Given the description of an element on the screen output the (x, y) to click on. 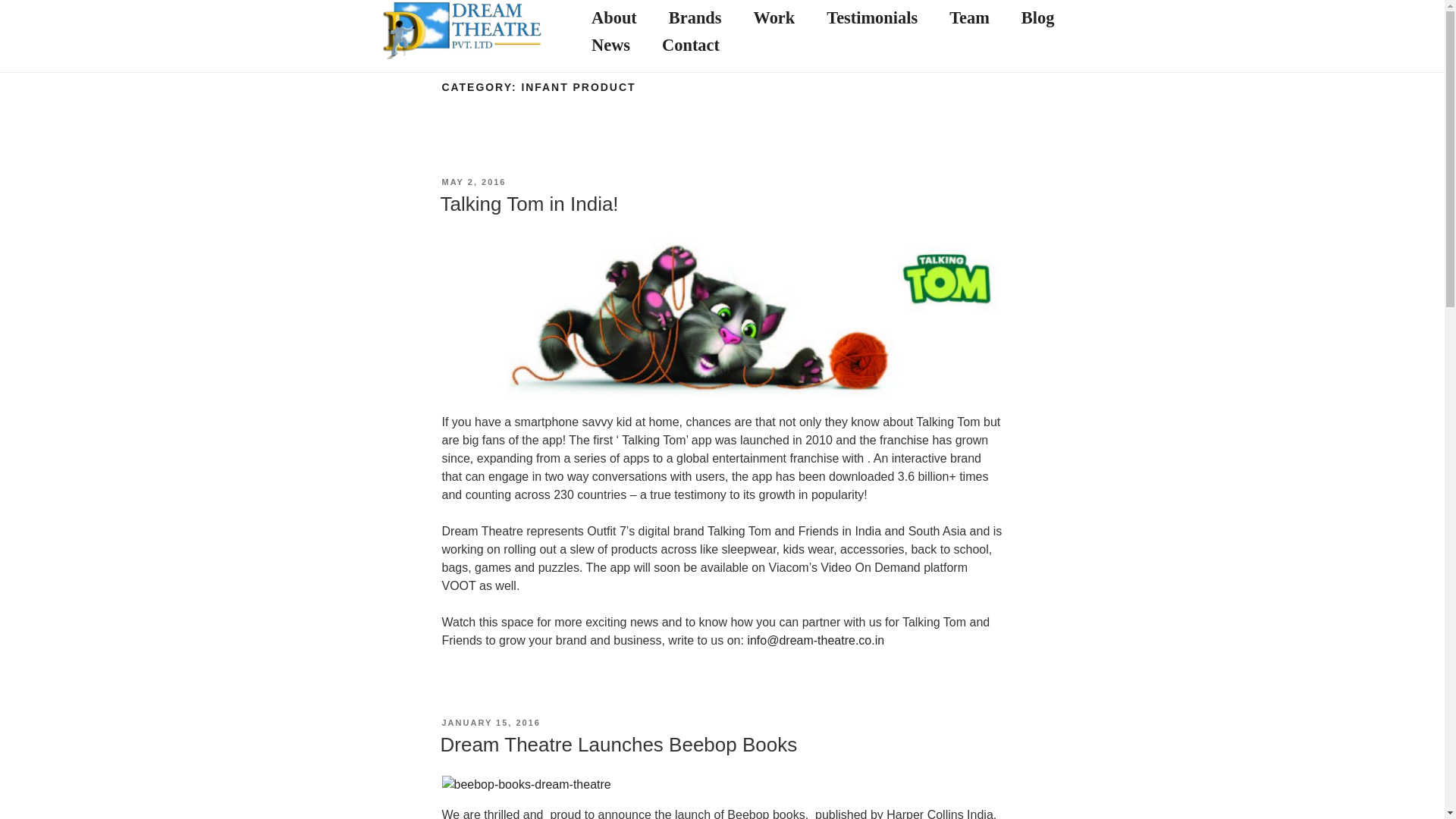
MAY 2, 2016 (473, 181)
Work (774, 18)
DREAM THEATRE (510, 52)
Talking Tom in India! (528, 203)
Team (969, 18)
About (614, 18)
Contact (690, 46)
Blog (1038, 18)
News (610, 46)
JANUARY 15, 2016 (490, 722)
